Given the description of an element on the screen output the (x, y) to click on. 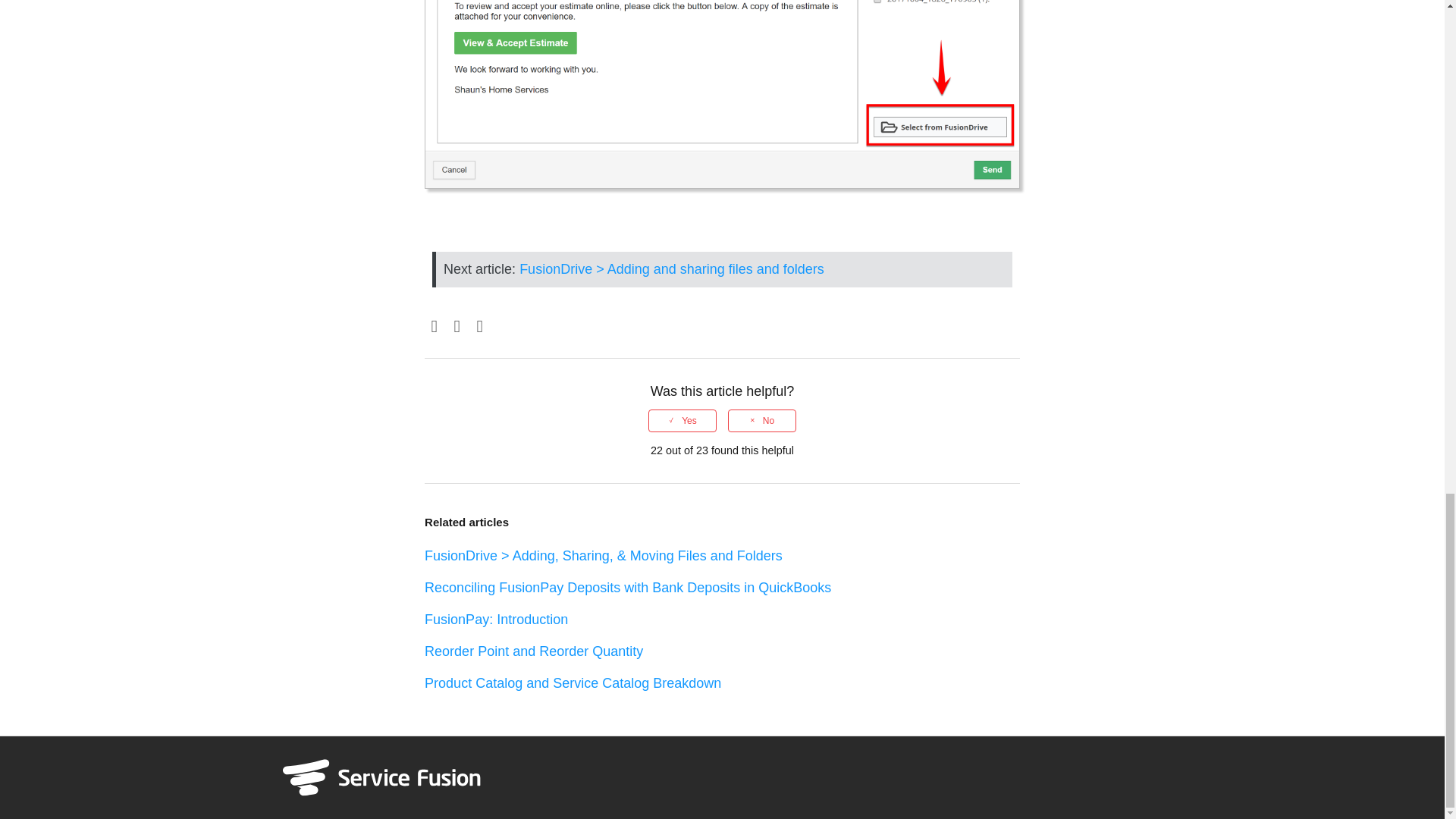
Facebook (434, 326)
Yes (681, 420)
LinkedIn (479, 326)
FusionPay: Introduction (496, 619)
Product Catalog and Service Catalog Breakdown (572, 683)
Reorder Point and Reorder Quantity (534, 651)
No (762, 420)
Twitter (455, 326)
